Given the description of an element on the screen output the (x, y) to click on. 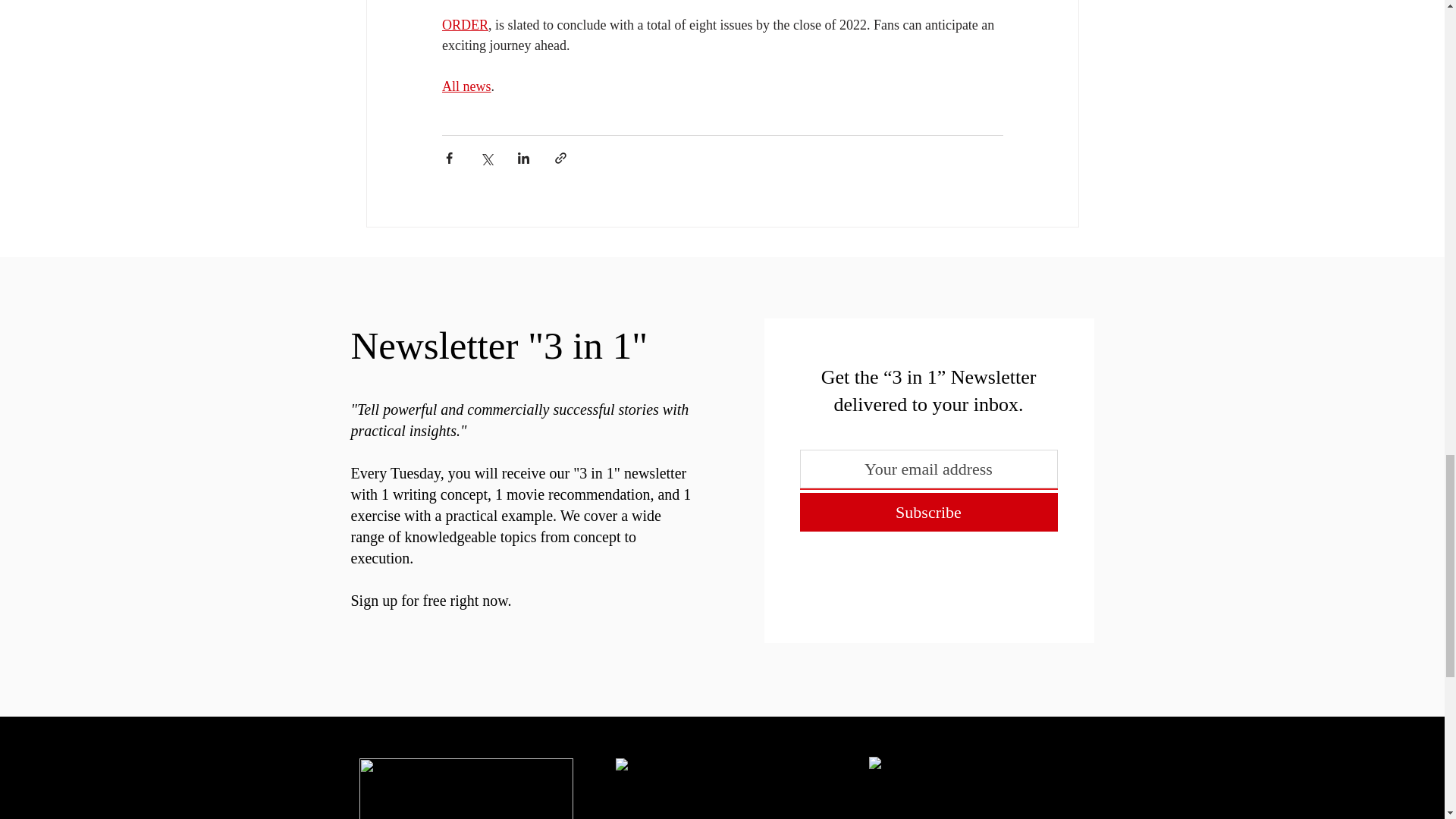
All news (465, 86)
Subscribe (928, 512)
ORDER (464, 24)
